Given the description of an element on the screen output the (x, y) to click on. 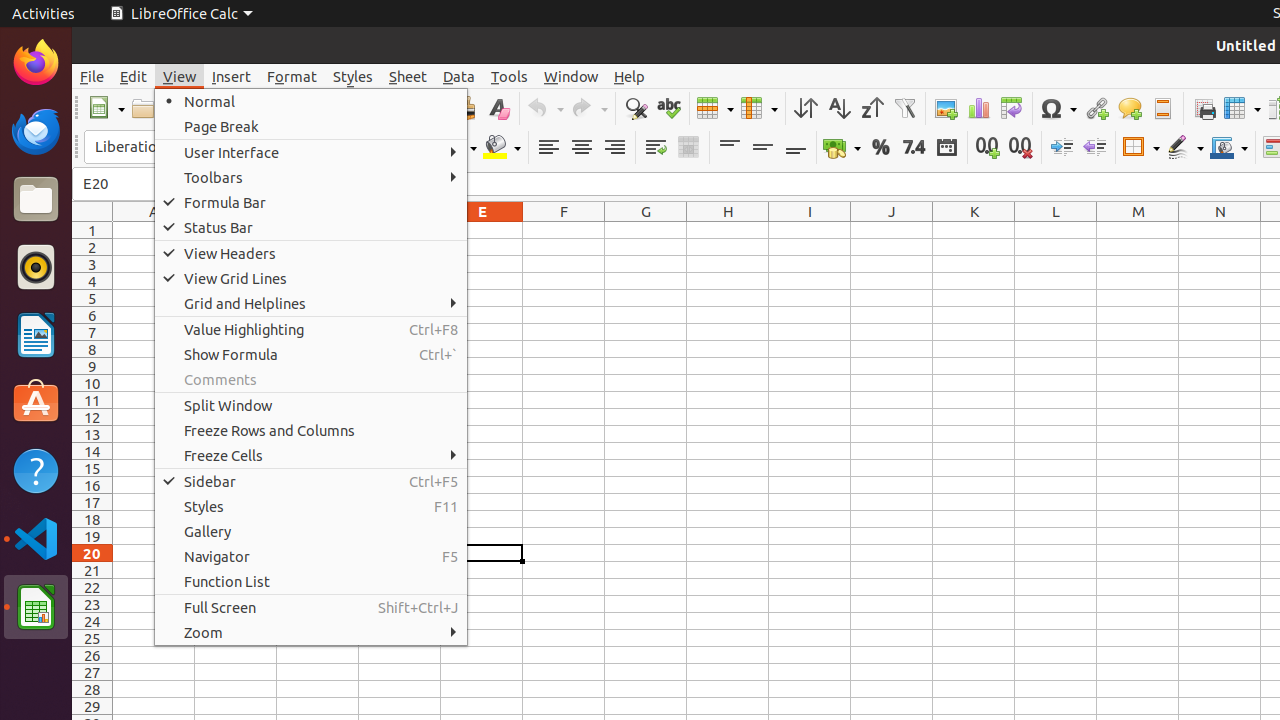
Zoom Element type: menu (311, 632)
J1 Element type: table-cell (892, 230)
Redo Element type: push-button (589, 108)
Percent Element type: push-button (880, 147)
Page Break Element type: radio-menu-item (311, 126)
